Given the description of an element on the screen output the (x, y) to click on. 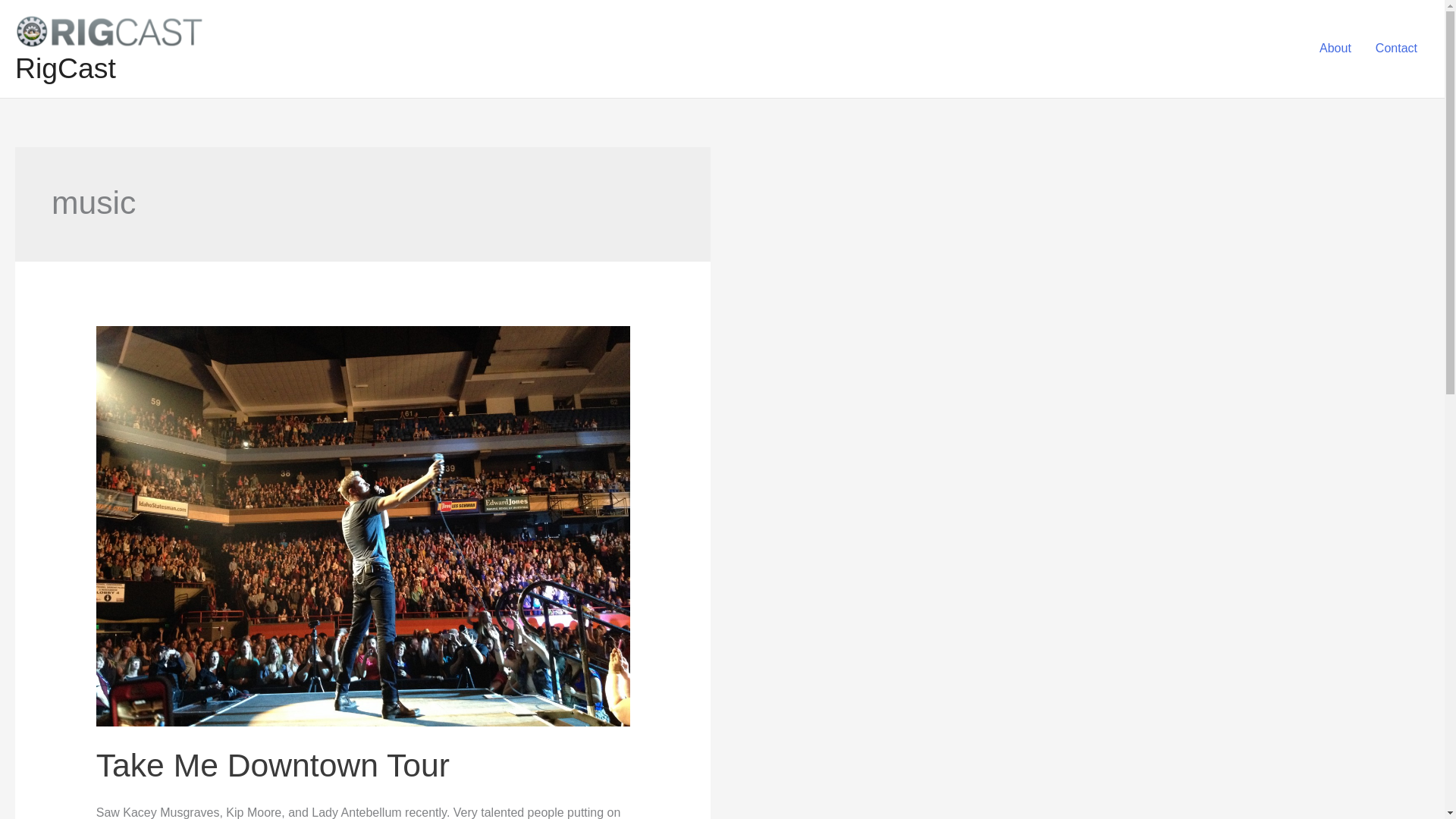
Advertisement (846, 727)
About (1334, 48)
RigCast (65, 68)
Contact (1395, 48)
Take Me Downtown Tour (272, 764)
